Given the description of an element on the screen output the (x, y) to click on. 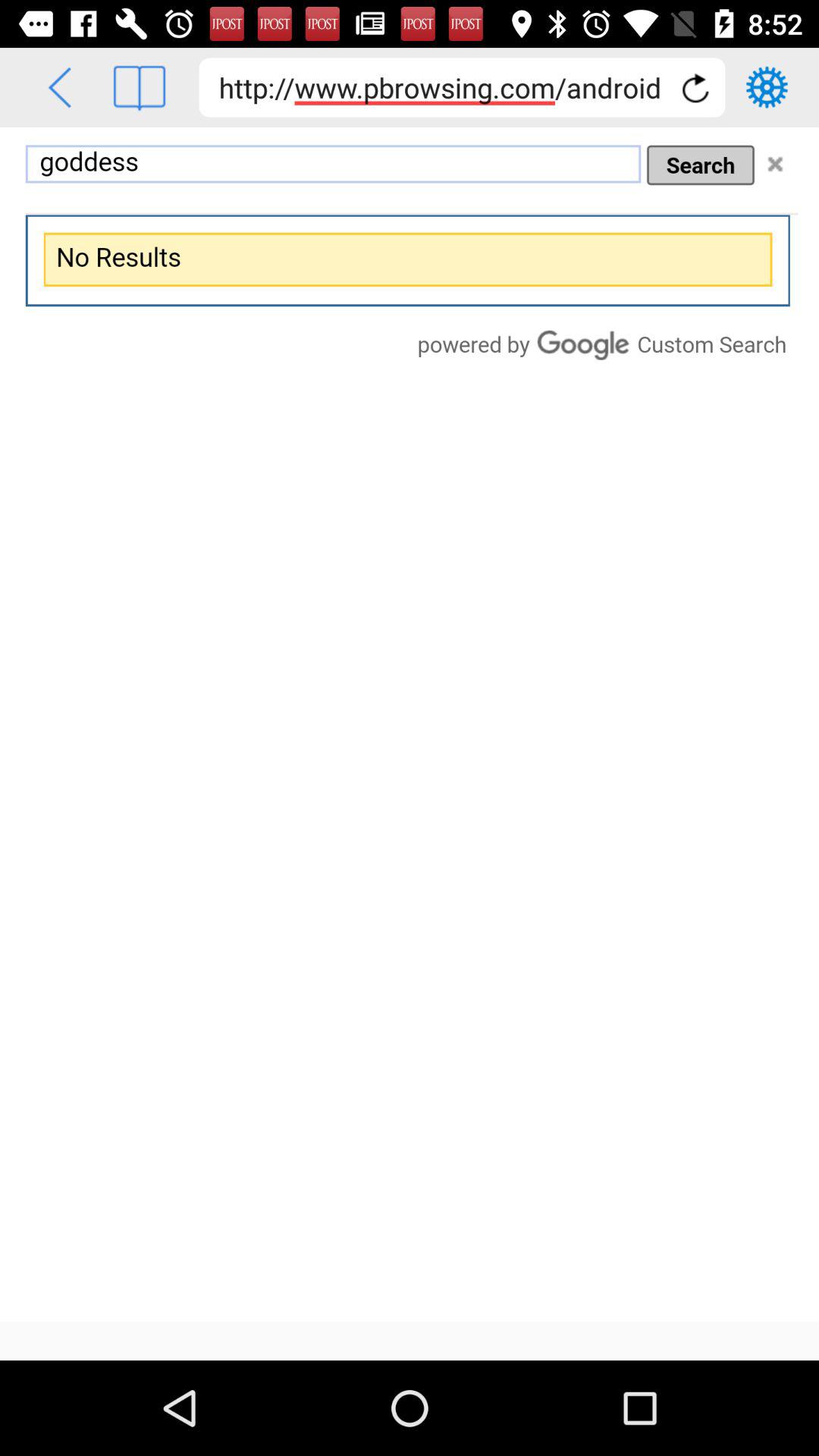
open the specific page (139, 87)
